Given the description of an element on the screen output the (x, y) to click on. 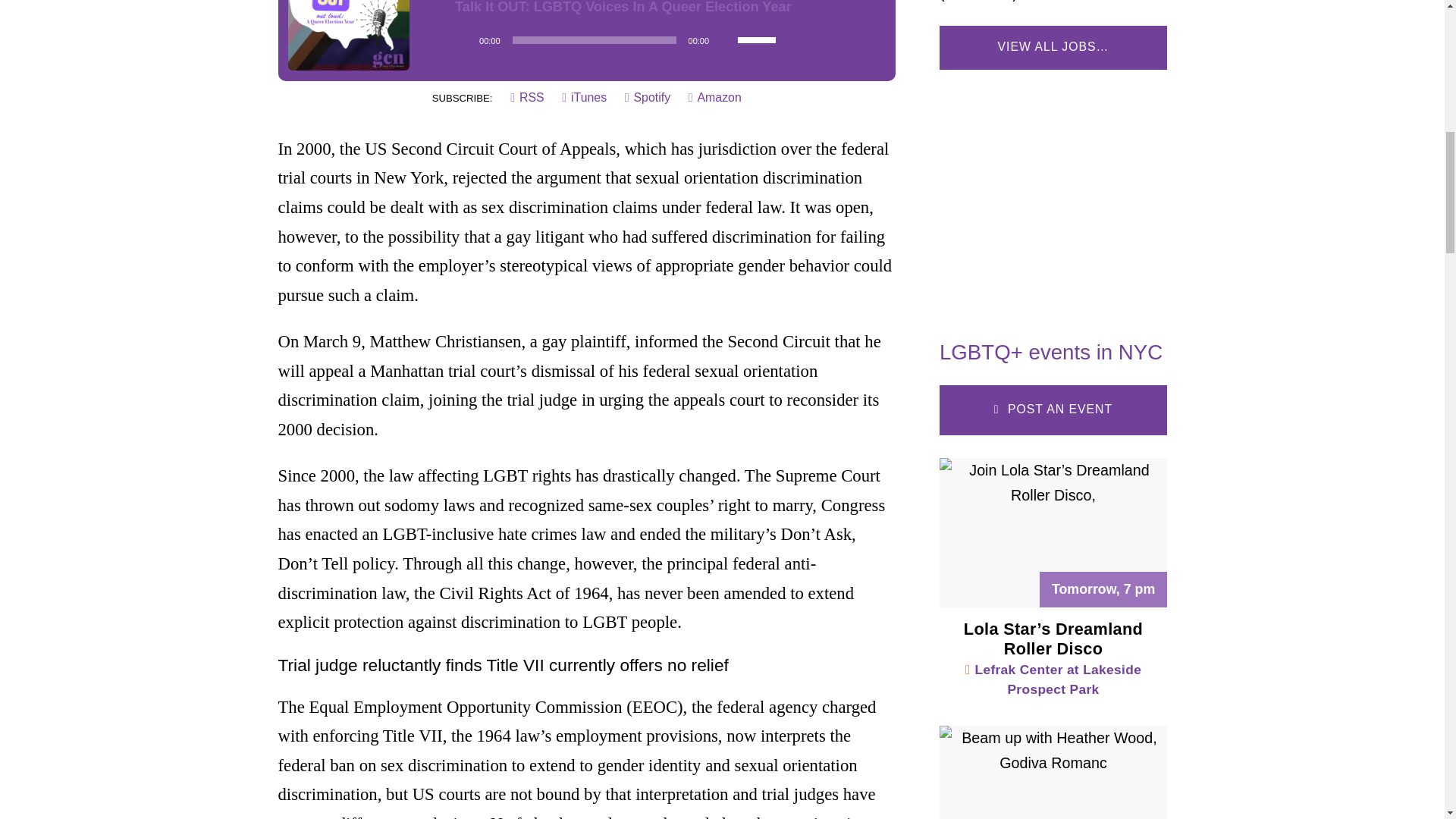
Play (462, 39)
Mute (725, 39)
